Given the description of an element on the screen output the (x, y) to click on. 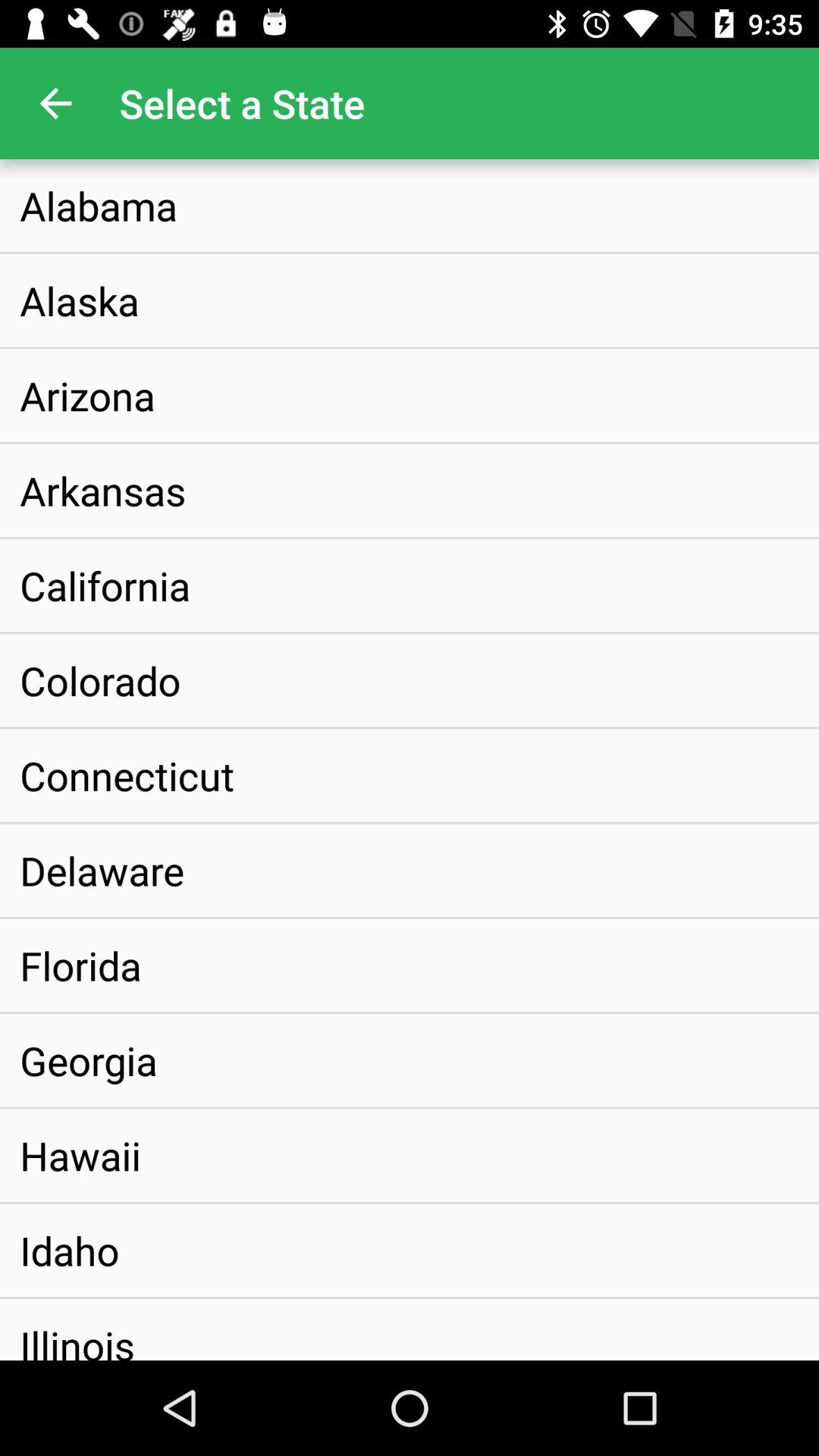
turn on item next to select a state item (55, 103)
